Given the description of an element on the screen output the (x, y) to click on. 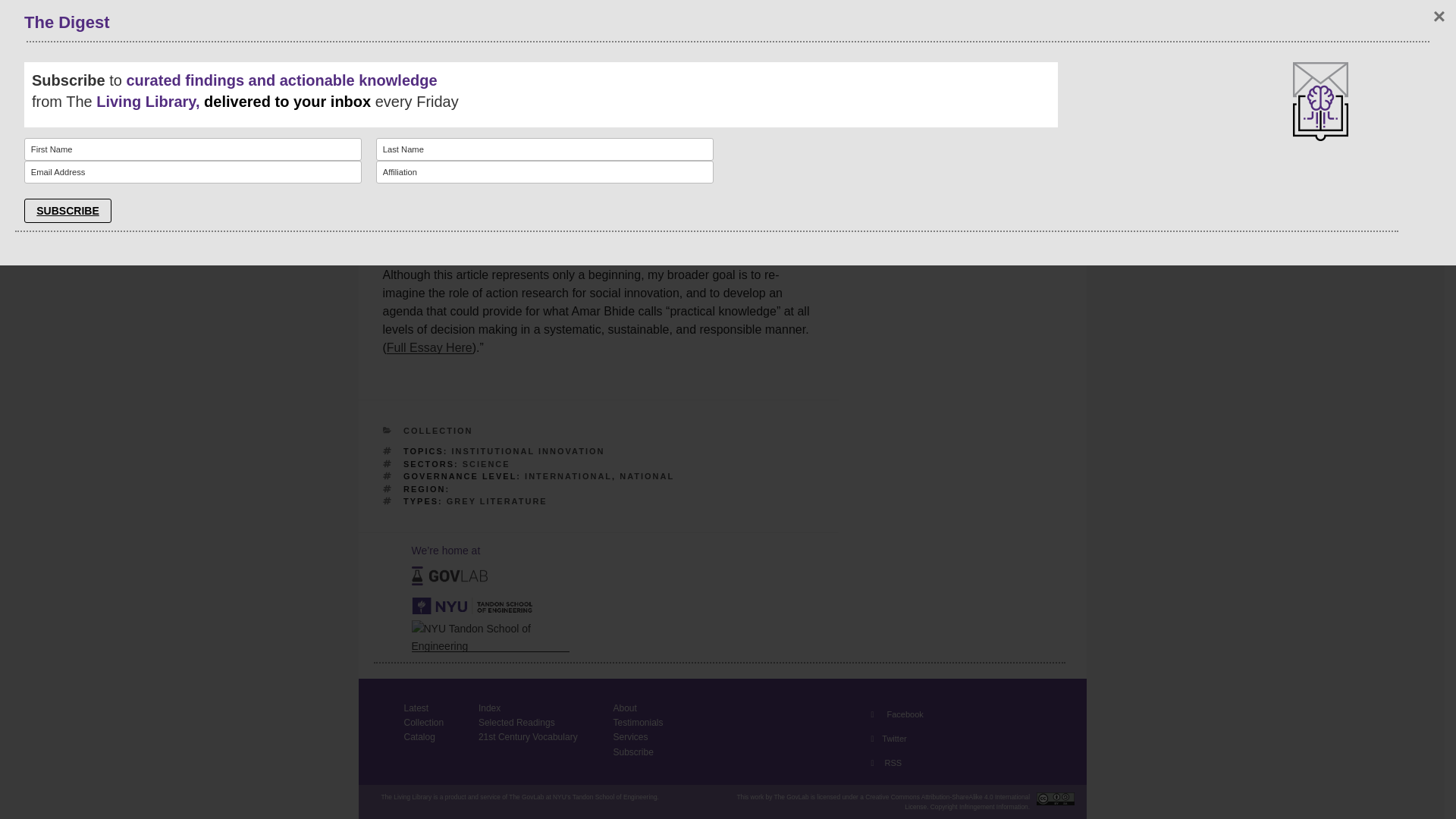
This new essay (578, 155)
essay (790, 164)
Full Essay Here (429, 347)
AI mass surveillance at Paris Olympics (950, 87)
